Given the description of an element on the screen output the (x, y) to click on. 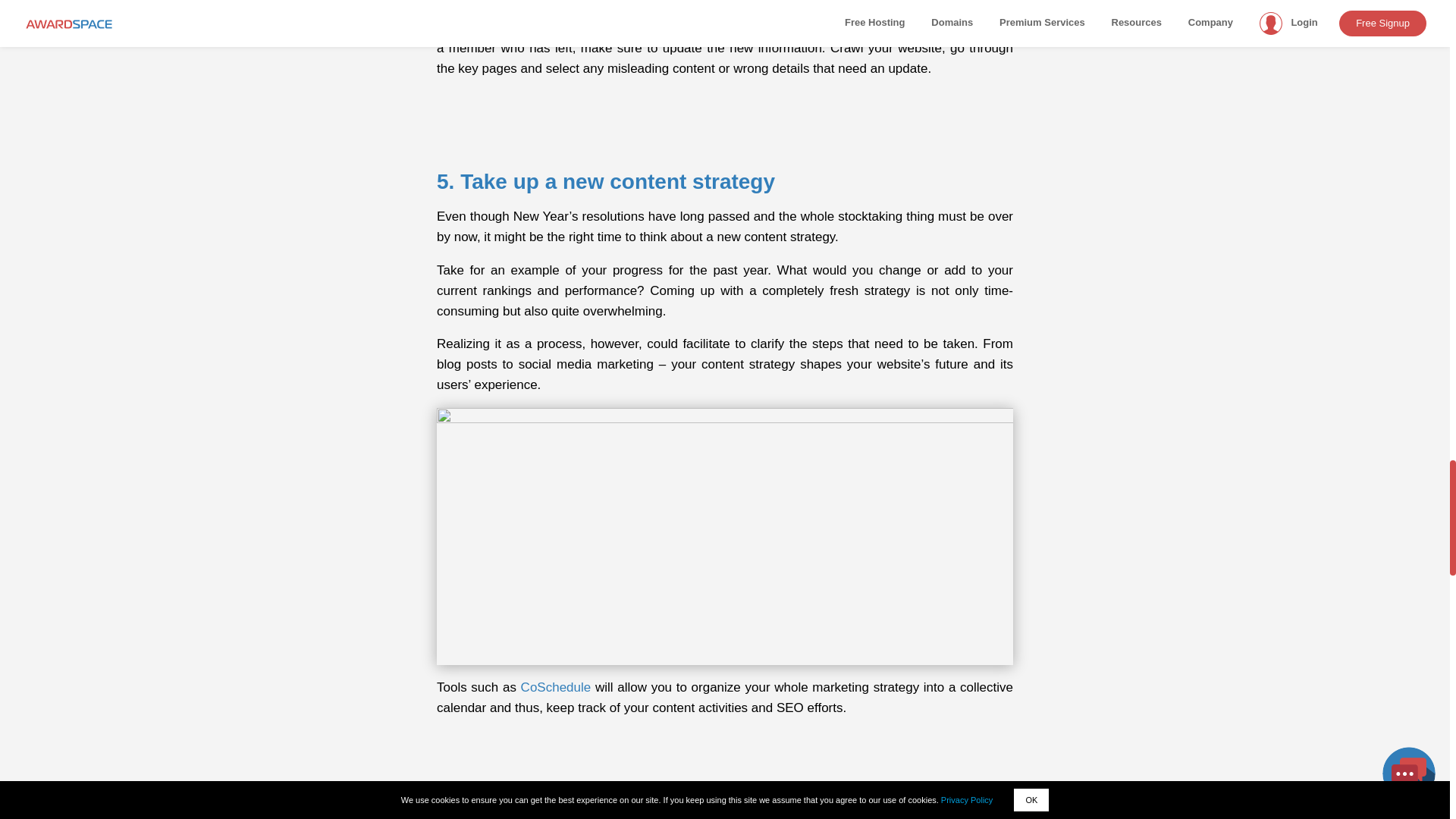
CoSchedule (556, 687)
